Given the description of an element on the screen output the (x, y) to click on. 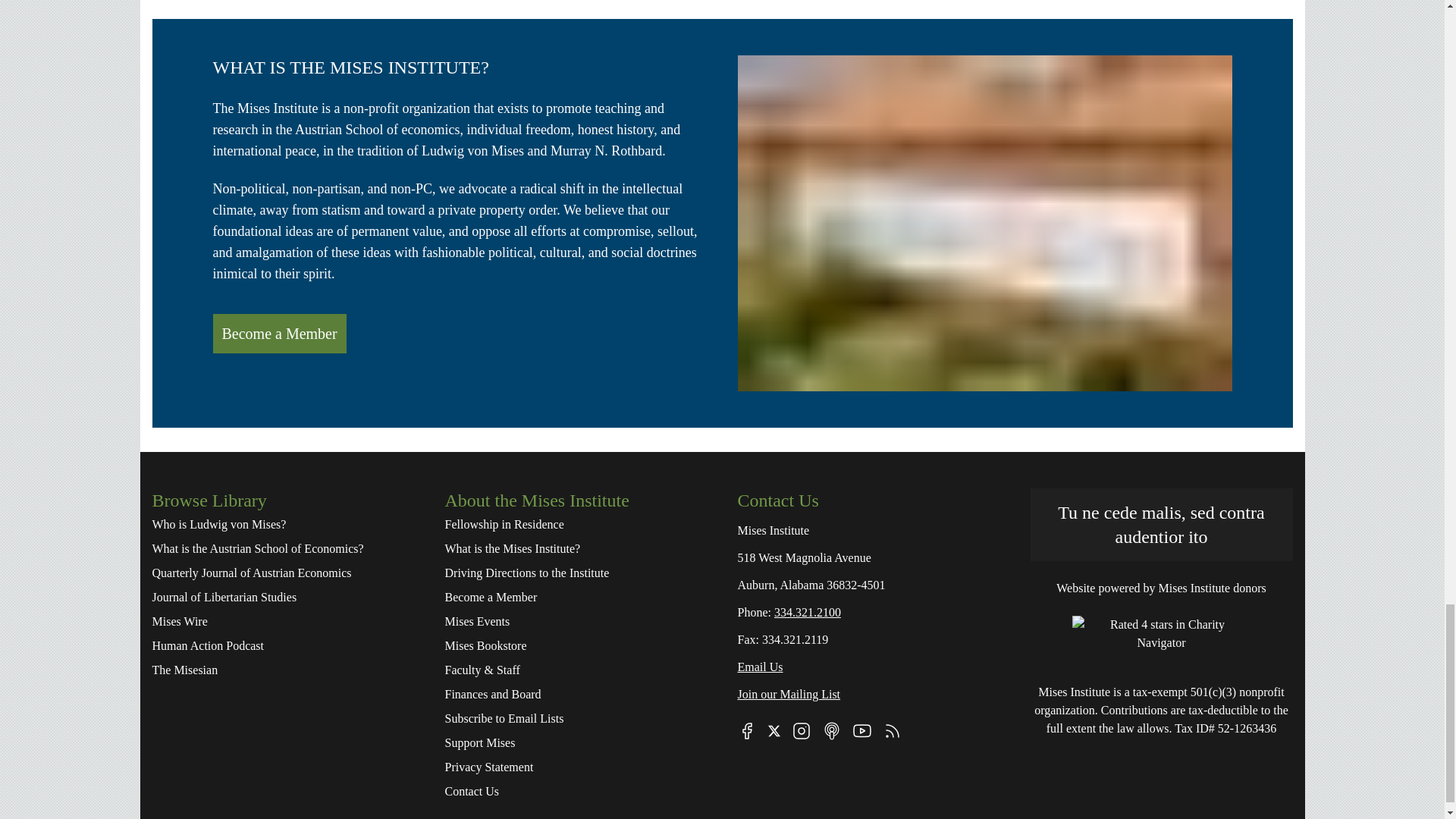
The Misesian (282, 670)
